Given the description of an element on the screen output the (x, y) to click on. 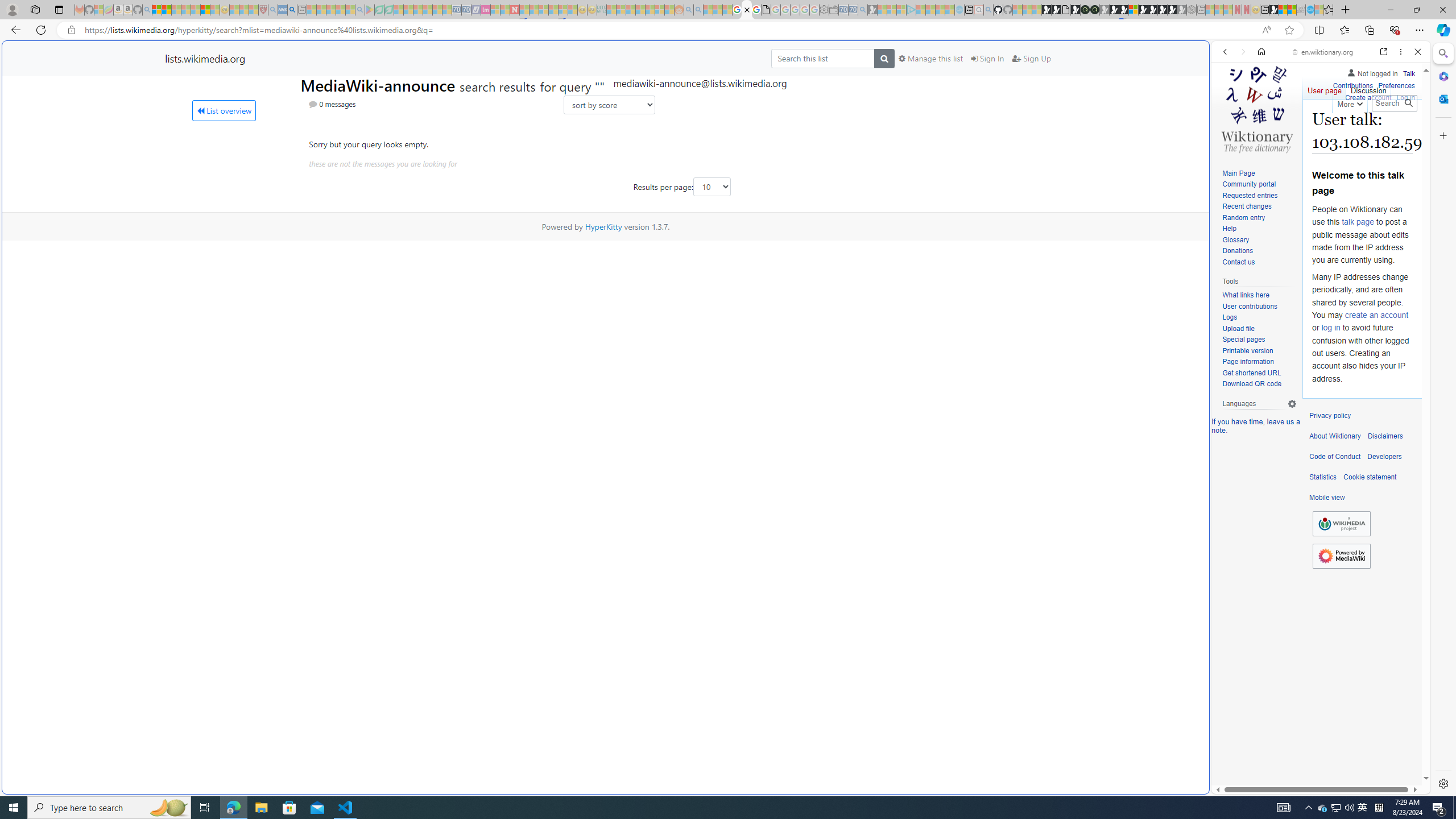
Glossary (1259, 240)
Microsoft Start Gaming - Sleeping (872, 9)
Main Page (1259, 173)
